Given the description of an element on the screen output the (x, y) to click on. 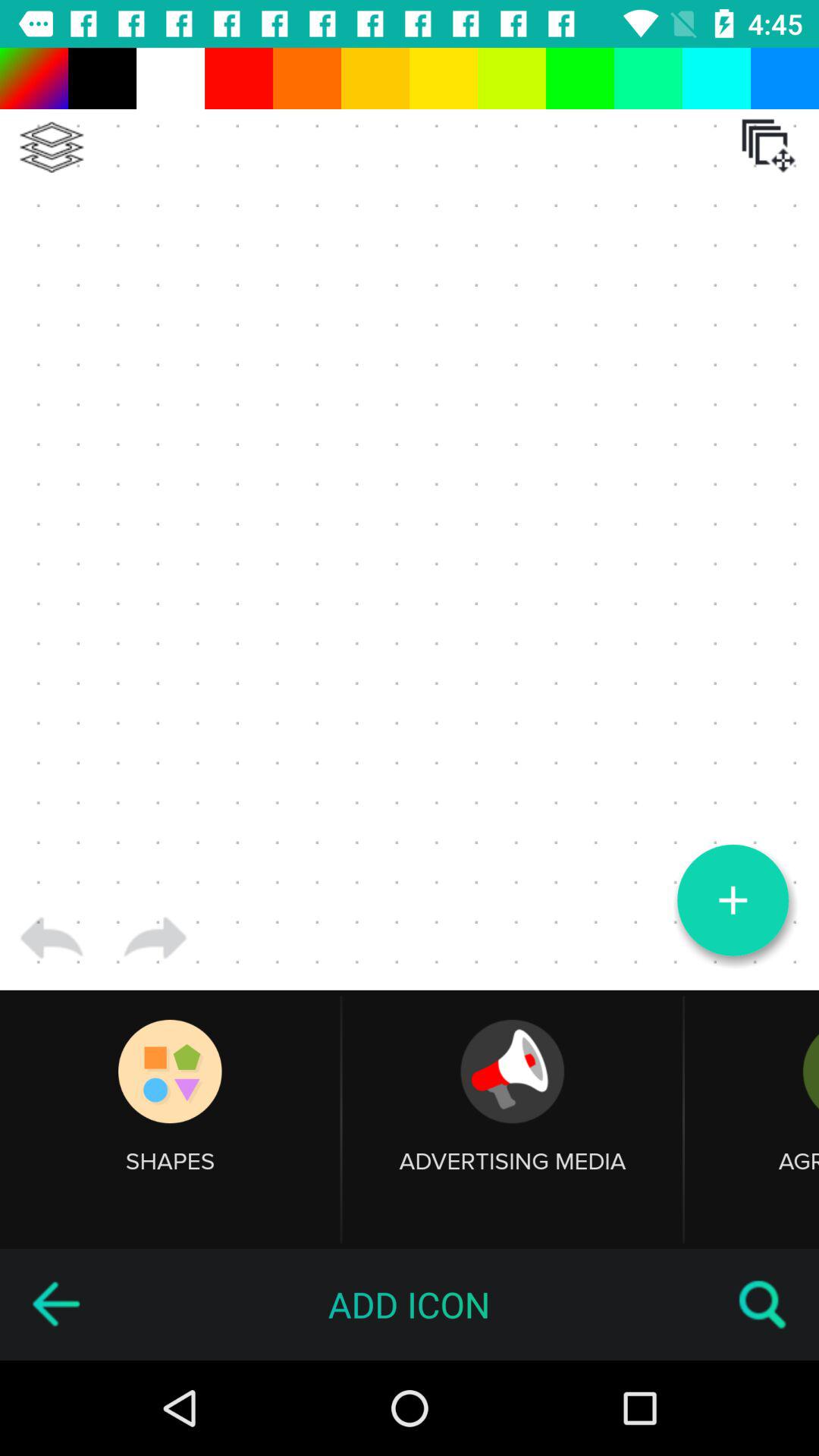
open the item at the top right corner (768, 145)
